Given the description of an element on the screen output the (x, y) to click on. 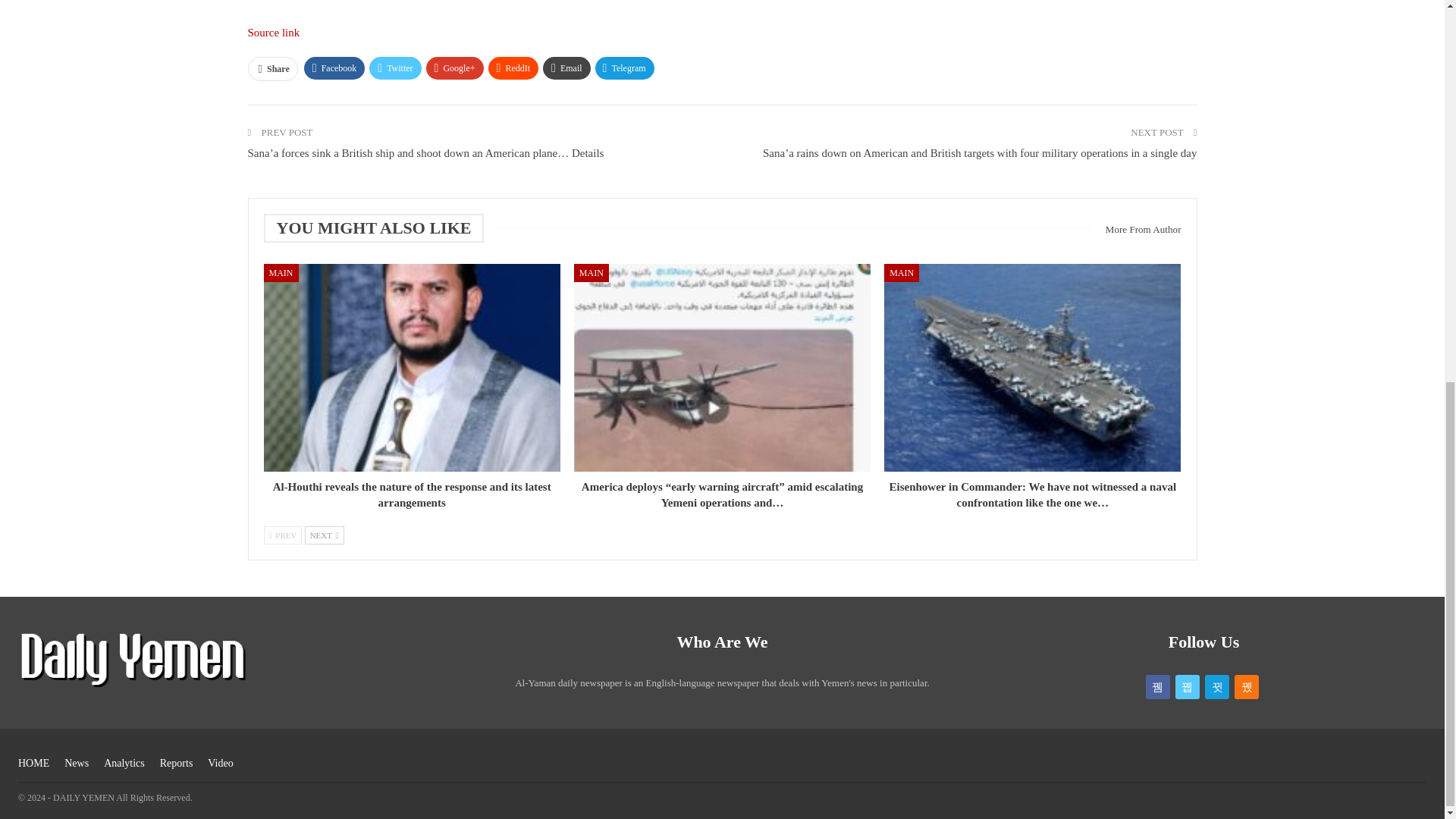
Facebook (334, 67)
Twitter (394, 67)
Next (323, 535)
ReddIt (512, 67)
Previous (282, 535)
Email (567, 67)
